Given the description of an element on the screen output the (x, y) to click on. 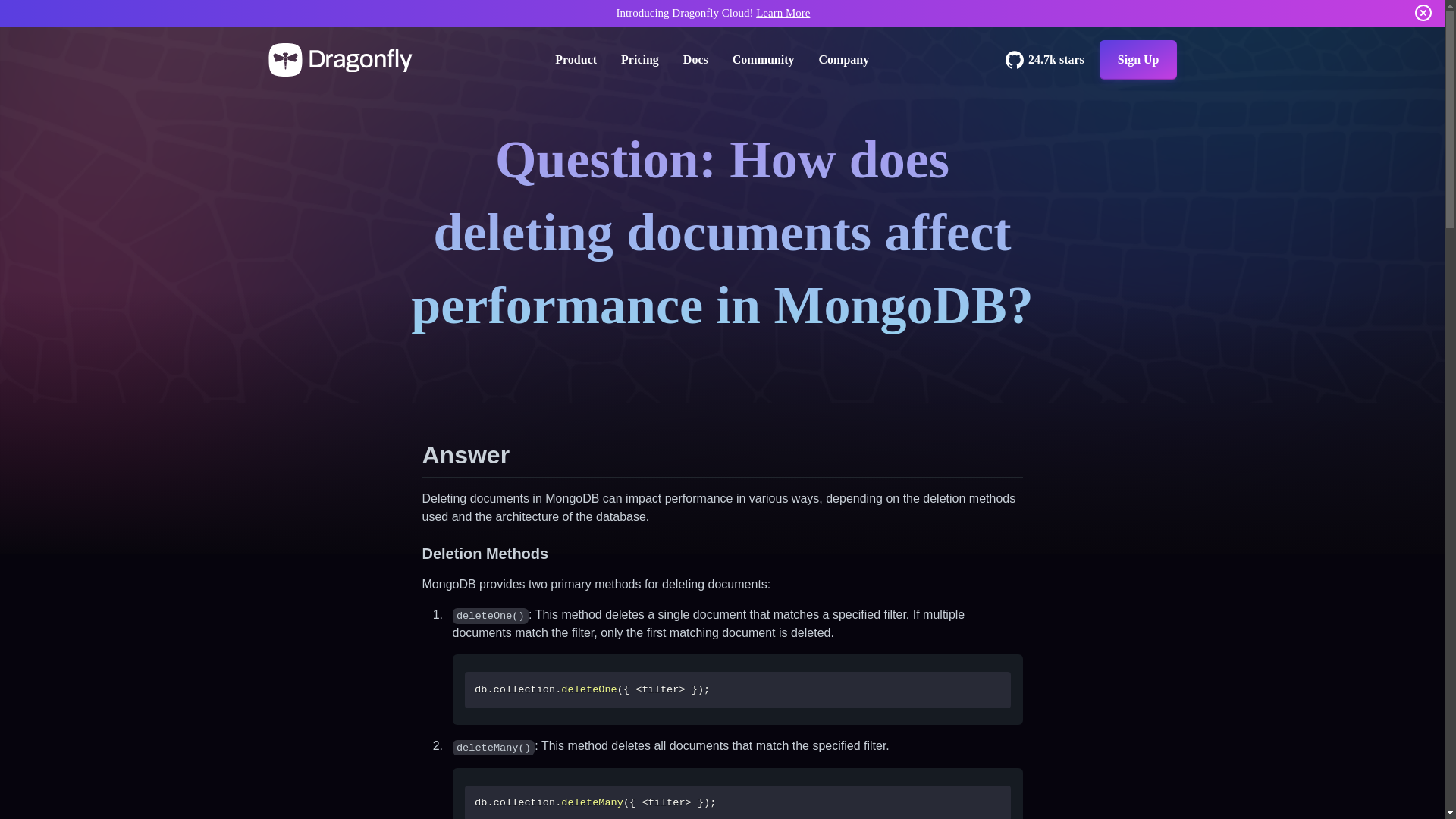
Product (575, 59)
Learn More (782, 12)
24.7k stars (1045, 59)
Docs (694, 59)
Sign Up (1138, 59)
Company (843, 59)
Community (763, 59)
Pricing (640, 59)
